Given the description of an element on the screen output the (x, y) to click on. 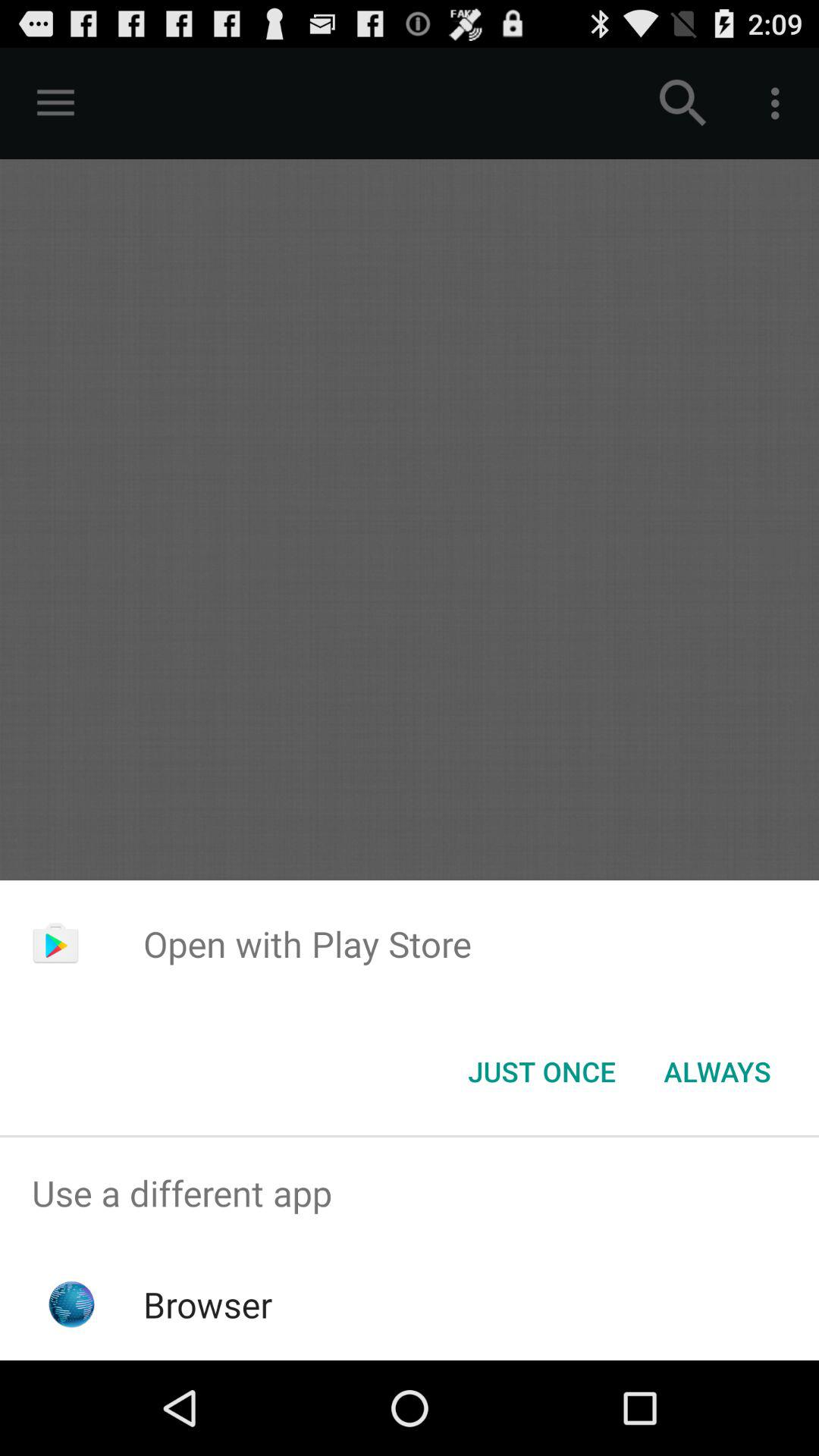
turn off browser (207, 1304)
